Given the description of an element on the screen output the (x, y) to click on. 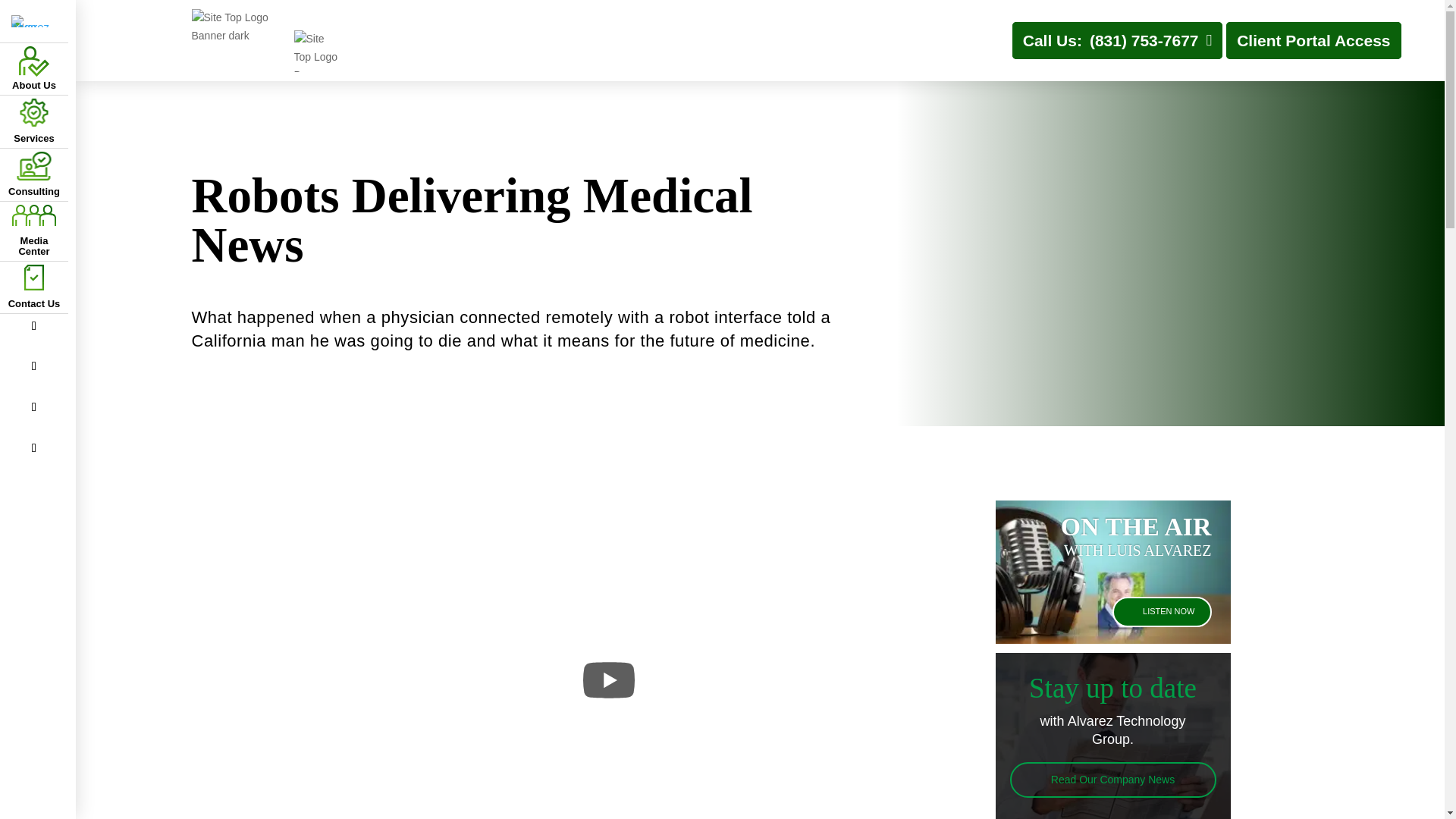
Media Center (34, 230)
Follow on Youtube (33, 447)
Consulting (34, 174)
Follow on Facebook (33, 325)
About Us (34, 67)
Follow on LinkedIn (33, 406)
Services (34, 121)
Alvarez Logo (33, 21)
Follow on X (33, 365)
Contact Us (34, 286)
